Given the description of an element on the screen output the (x, y) to click on. 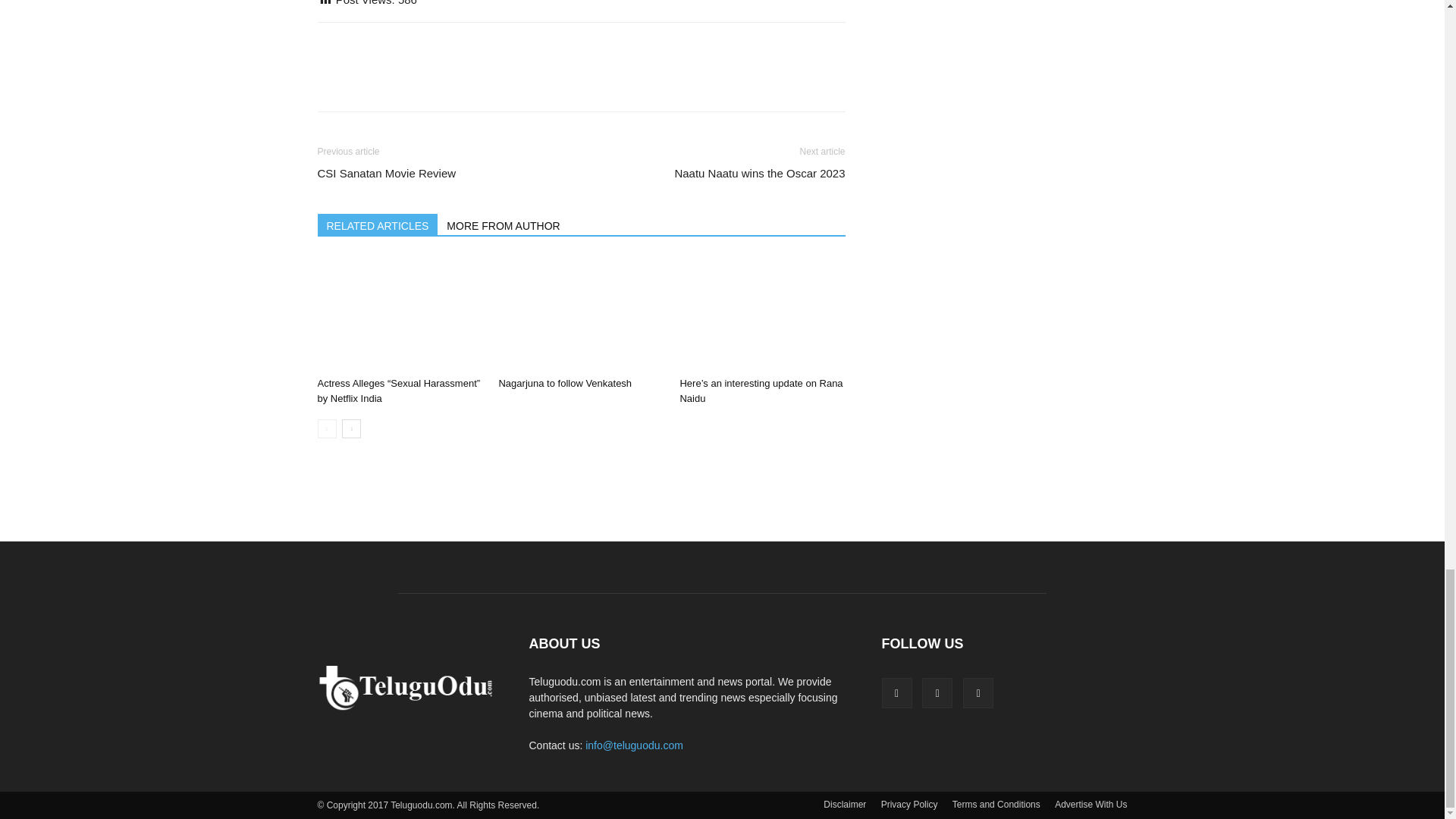
Nagarjuna to follow Venkatesh (564, 383)
Nagarjuna to follow Venkatesh (580, 314)
